Given the description of an element on the screen output the (x, y) to click on. 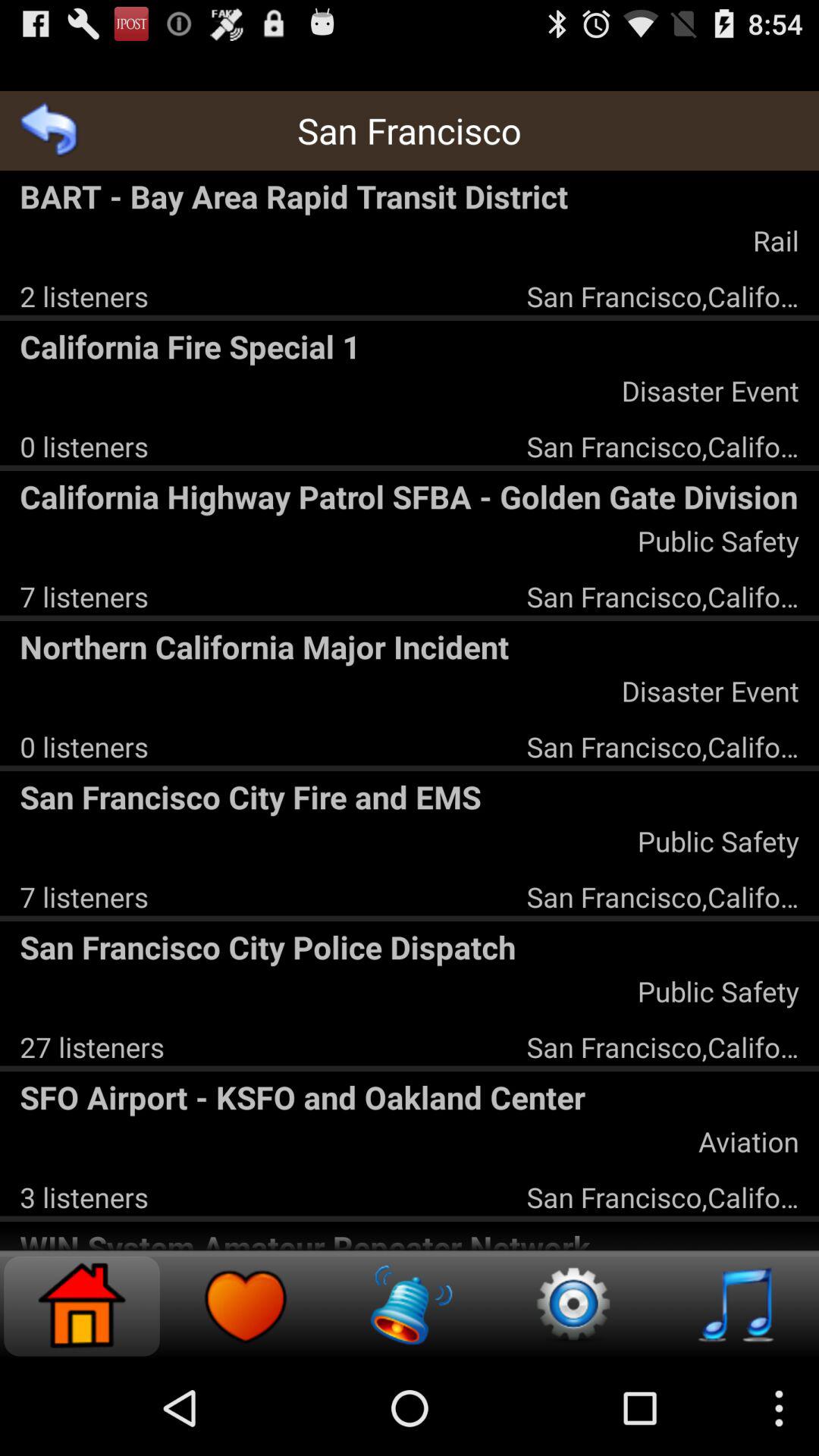
turn off the icon above the disaster event (409, 345)
